Given the description of an element on the screen output the (x, y) to click on. 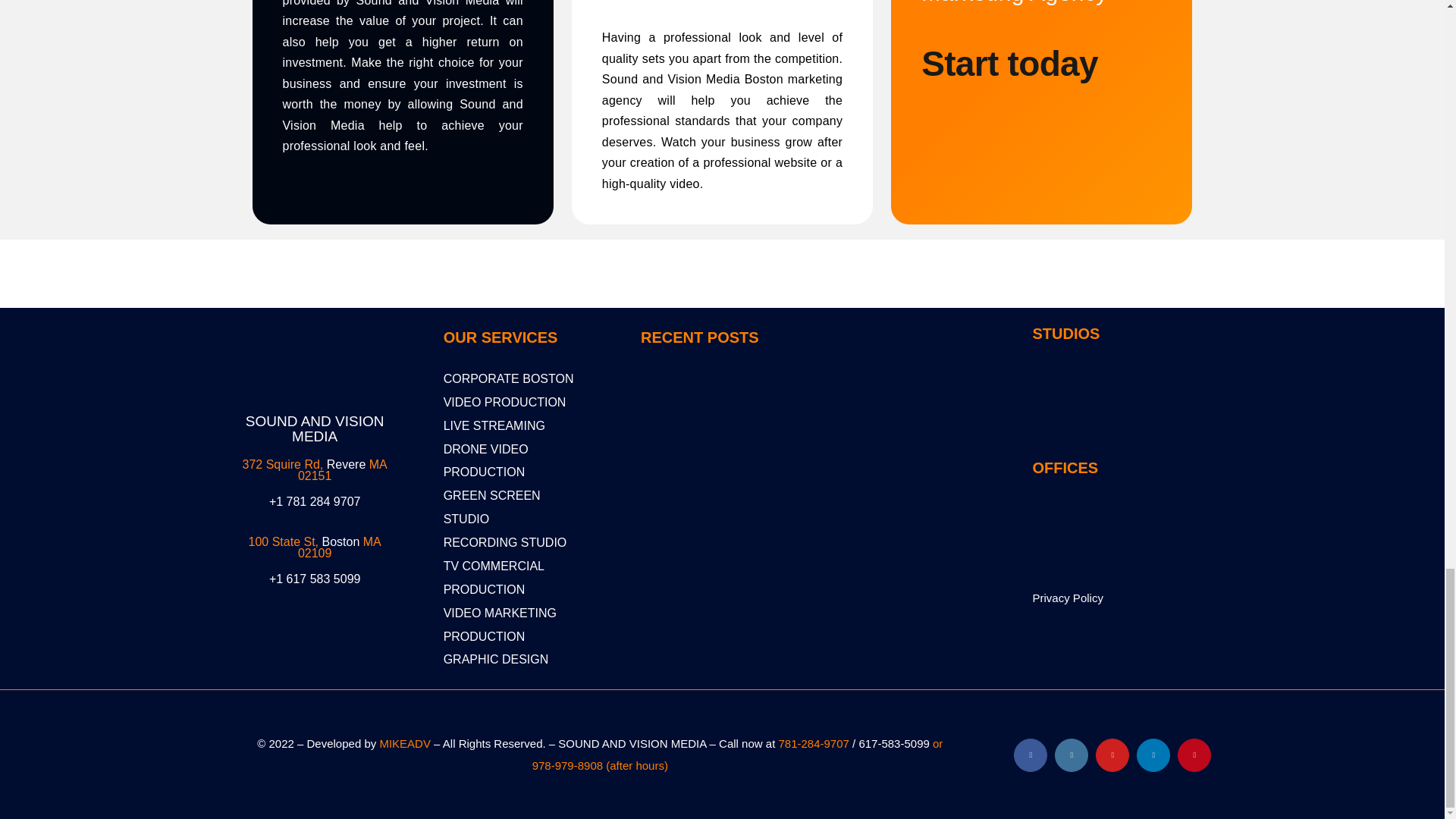
Boston Marketing Agency (716, 425)
Boston Marketing Agency (890, 425)
Boston Marketing Agency (314, 353)
Boston Marketing Agency (890, 519)
Boston Marketing Agency (716, 519)
